Given the description of an element on the screen output the (x, y) to click on. 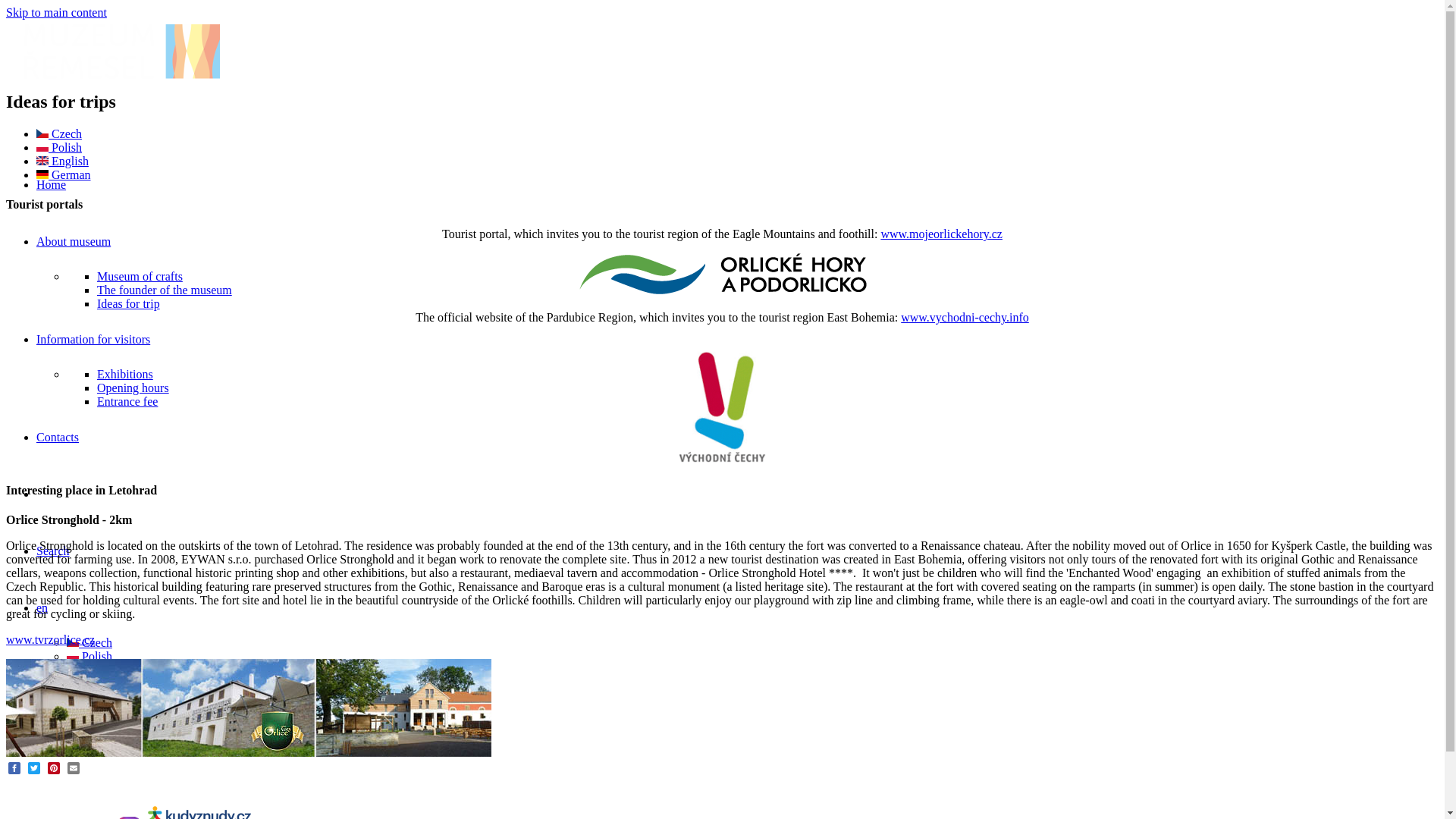
Home (50, 184)
Search (52, 550)
en (42, 607)
English (72, 669)
www.tvrzorlice.cz (49, 639)
German (72, 682)
Czech (58, 133)
English (42, 160)
Czech (89, 642)
Polish (58, 146)
www.mojeorlickehory.cz (941, 233)
The founder of the museum (164, 289)
Opening hours (132, 387)
Polish (42, 146)
